Given the description of an element on the screen output the (x, y) to click on. 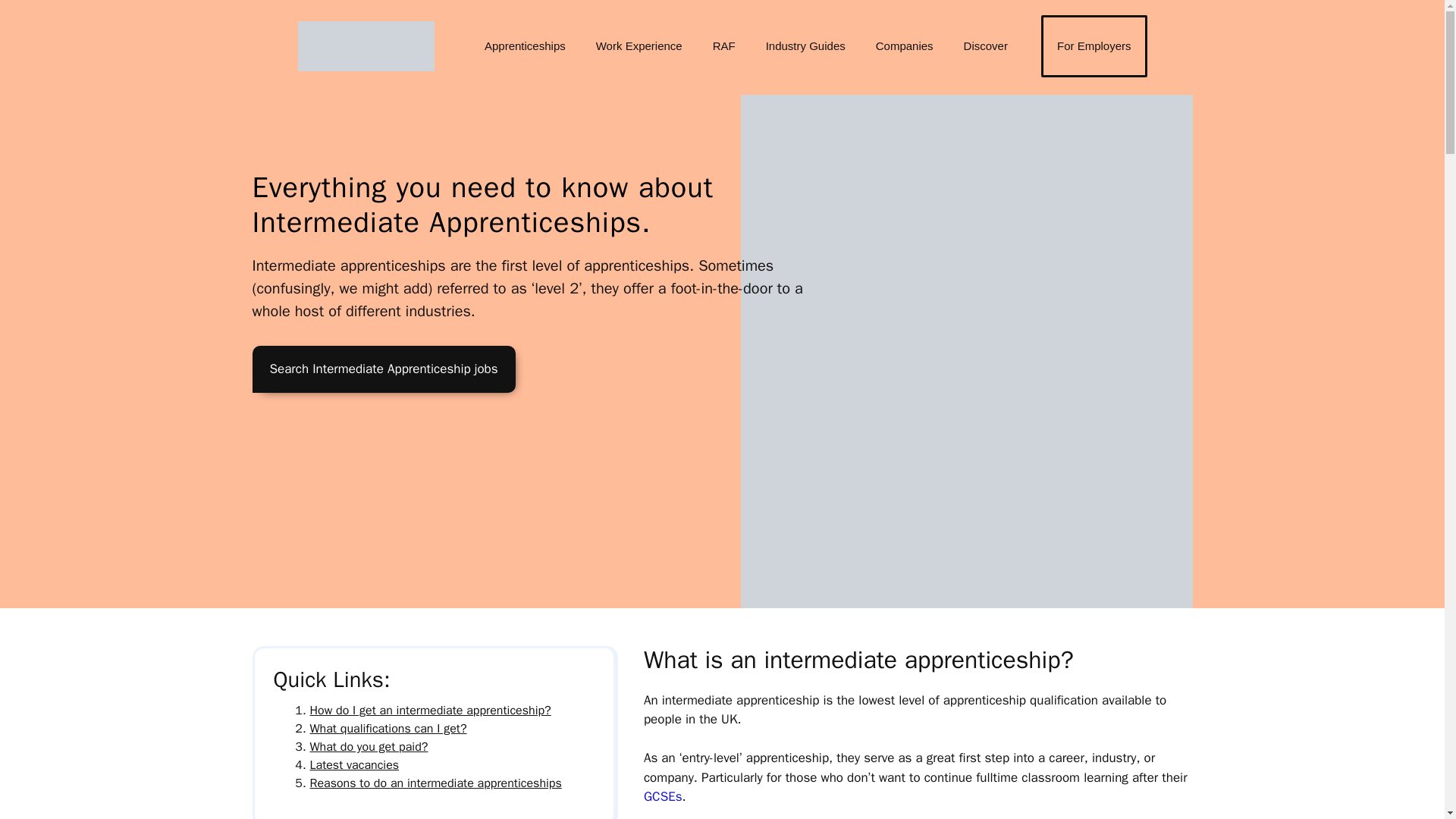
Discover (986, 45)
Best Apprenticeships (365, 44)
RAF (724, 45)
What do you get paid? (368, 746)
Apprenticeships (524, 45)
Latest vacancies (353, 765)
Companies (904, 45)
Best Apprenticeships (365, 46)
Reasons to do an intermediate apprenticeships (434, 783)
GCSEs (662, 796)
